Given the description of an element on the screen output the (x, y) to click on. 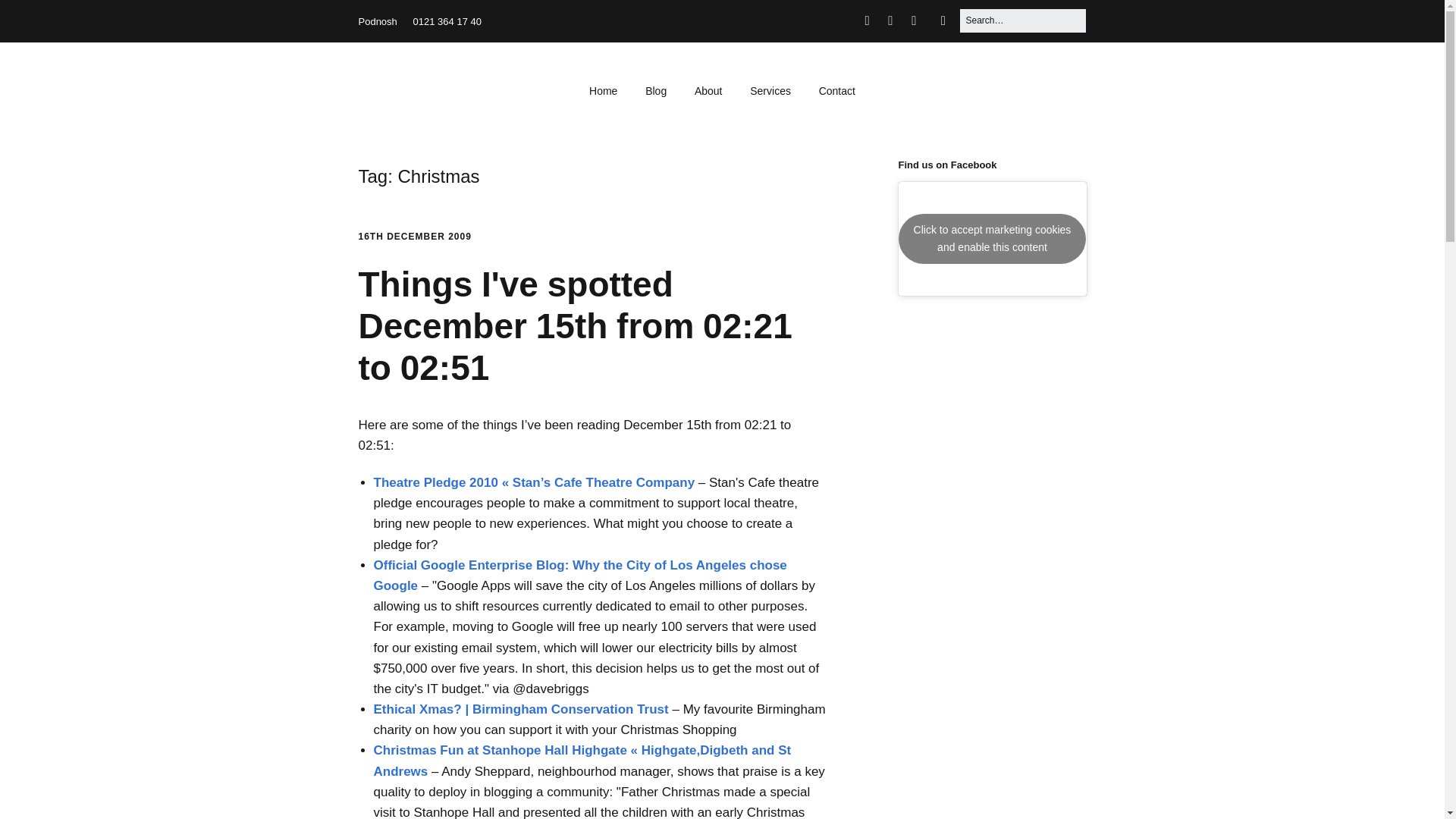
Blog (655, 91)
Home (602, 91)
Things I've spotted December 15th from 02:21 to 02:51 (575, 325)
Podnosh (377, 21)
Contact (836, 91)
Search (29, 16)
About (708, 91)
16TH DECEMBER 2009 (414, 235)
0121 364 17 40 (447, 21)
Services (770, 91)
Press Enter to submit your search (1022, 20)
